Given the description of an element on the screen output the (x, y) to click on. 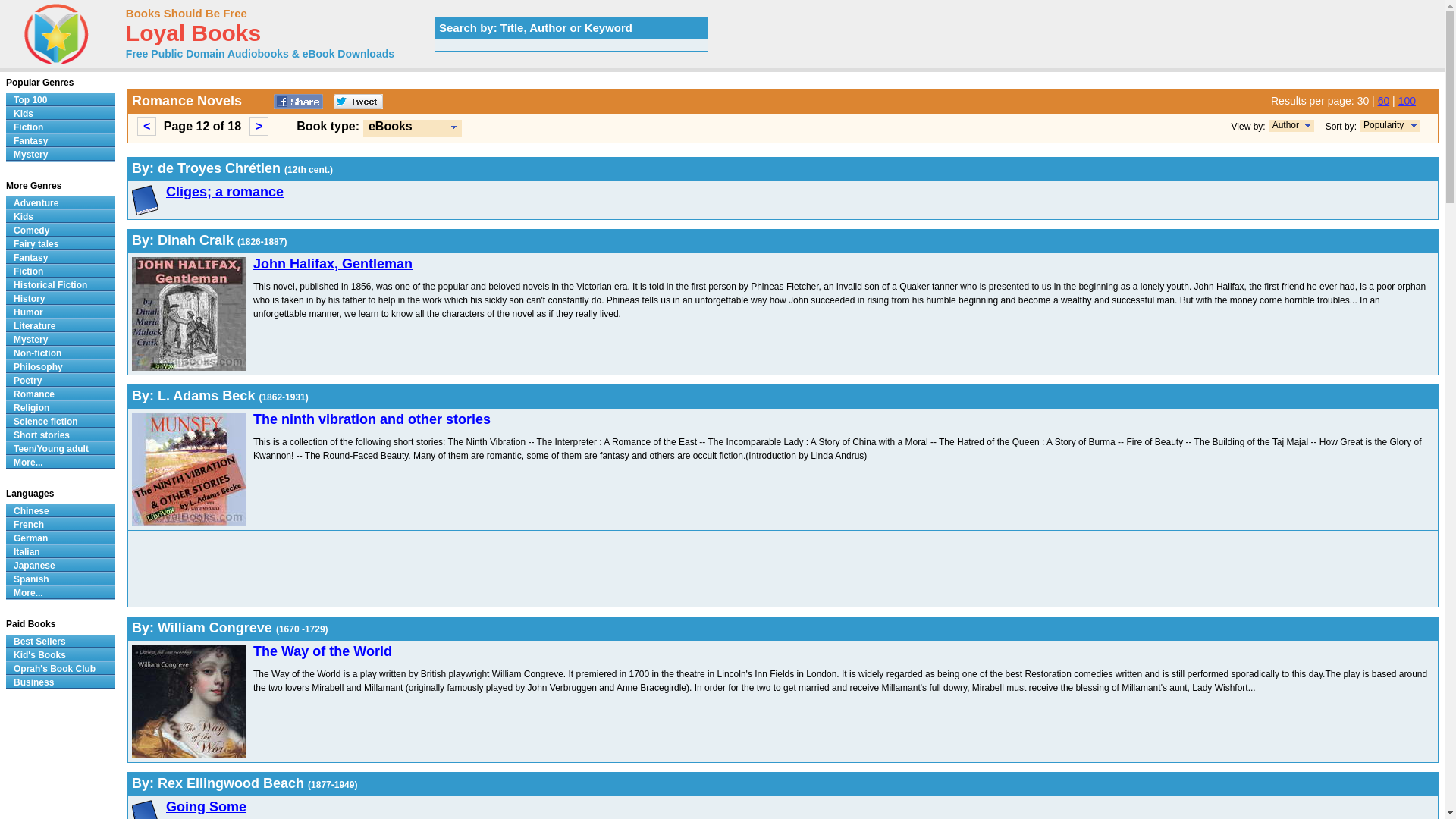
The Way of the World (322, 651)
Advertisement (587, 568)
eBooks (411, 127)
Popularity (1382, 124)
Author (1291, 125)
Popularity (1390, 125)
Cliges; a romance (224, 191)
Books Should Be Free (186, 12)
Loyal Books (192, 36)
60 (1383, 101)
